Given the description of an element on the screen output the (x, y) to click on. 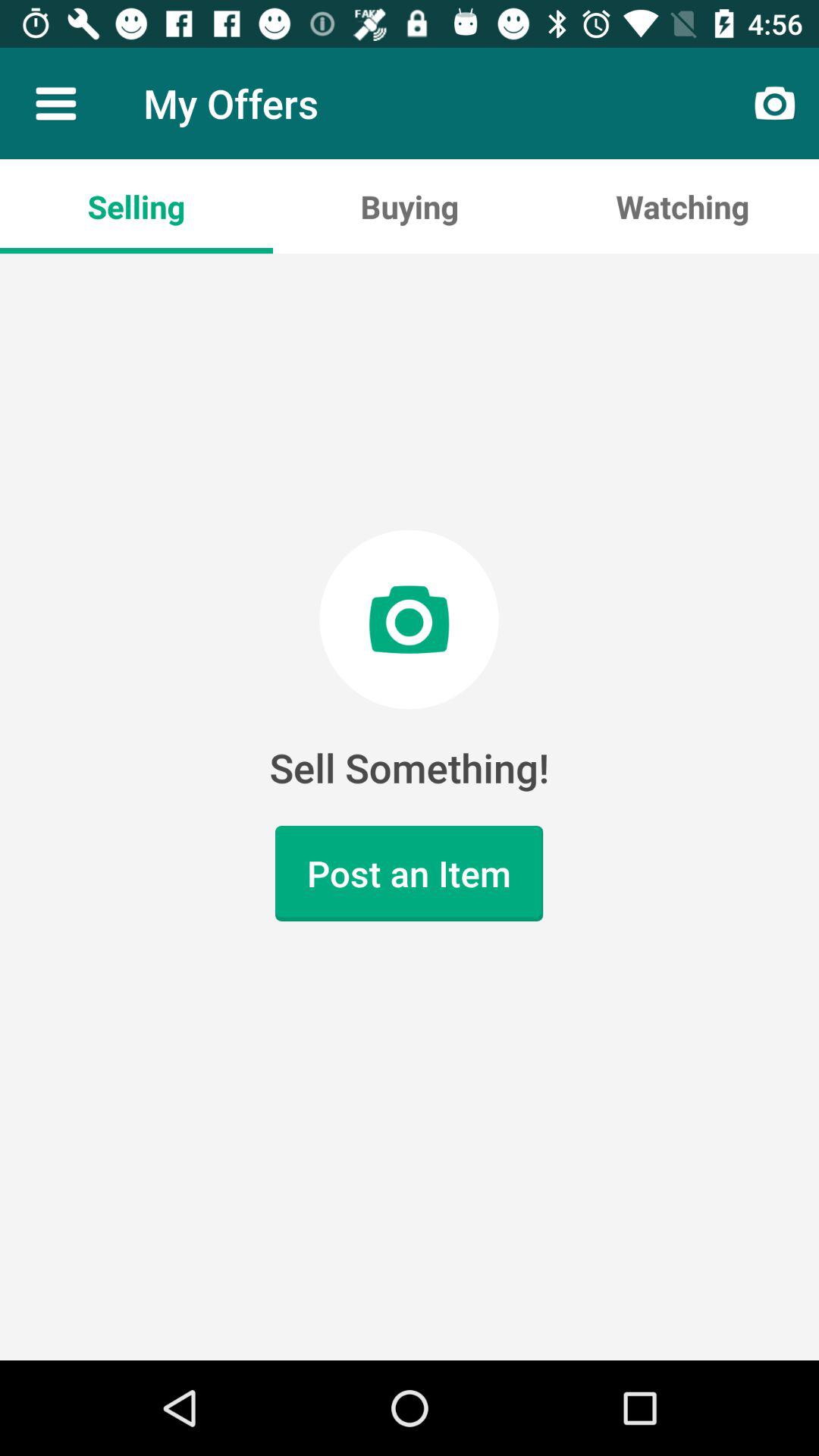
tap the app above selling app (55, 103)
